Given the description of an element on the screen output the (x, y) to click on. 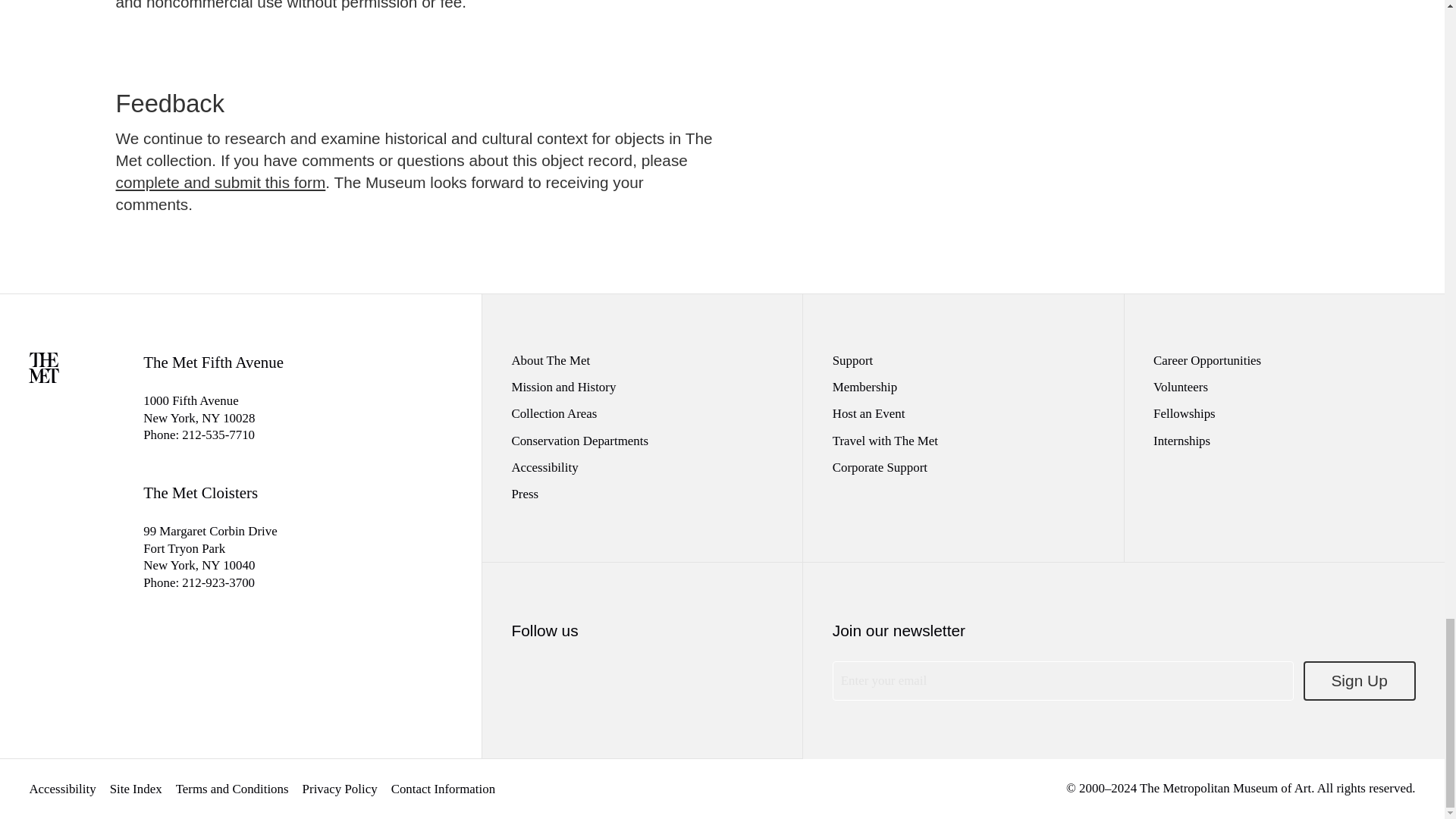
Homepage (44, 377)
